Given the description of an element on the screen output the (x, y) to click on. 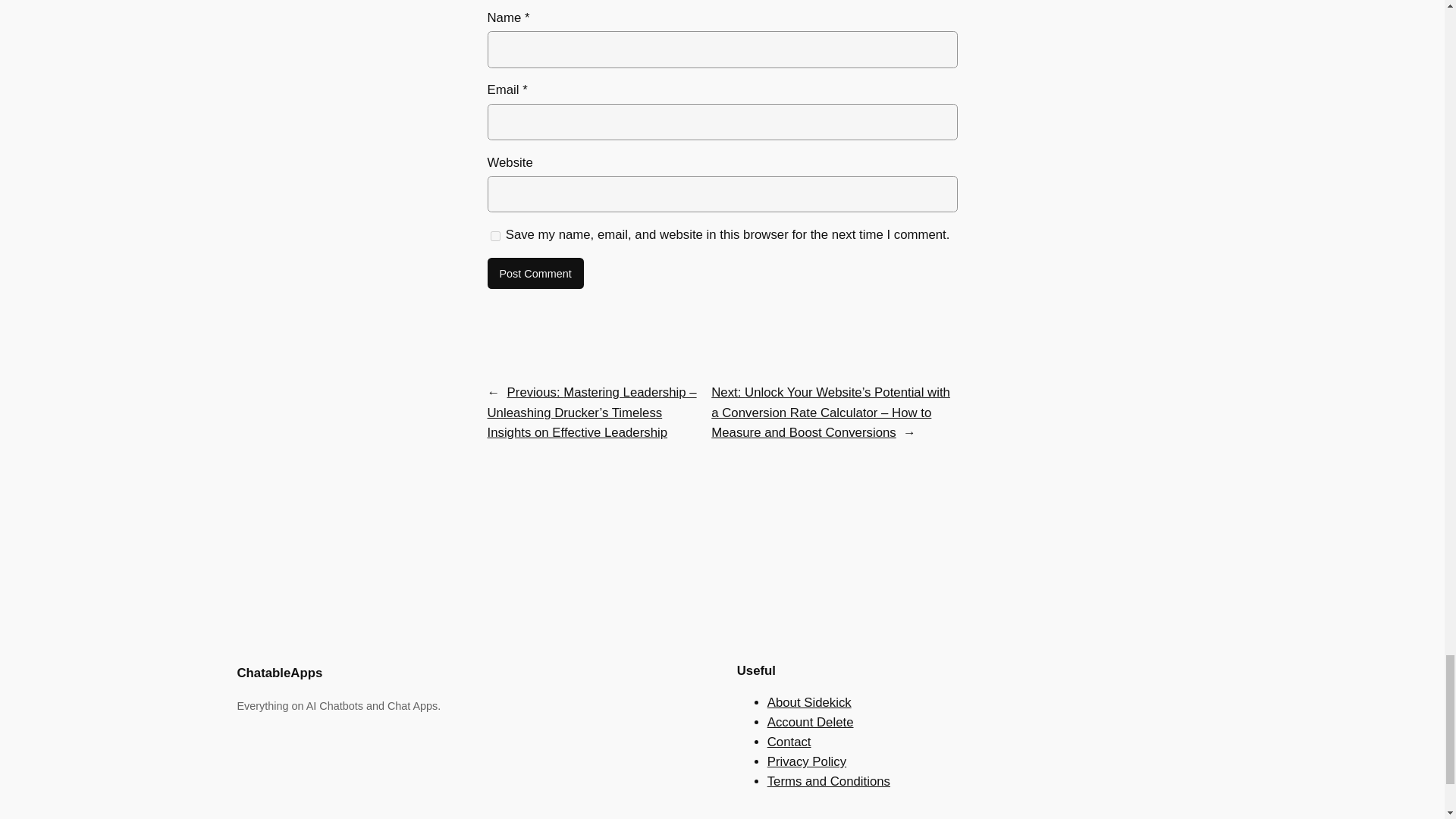
Post Comment (534, 273)
Terms and Conditions (828, 780)
Privacy Policy (806, 761)
Post Comment (534, 273)
About Sidekick (809, 702)
ChatableApps (278, 672)
Contact (788, 741)
Account Delete (810, 721)
